Given the description of an element on the screen output the (x, y) to click on. 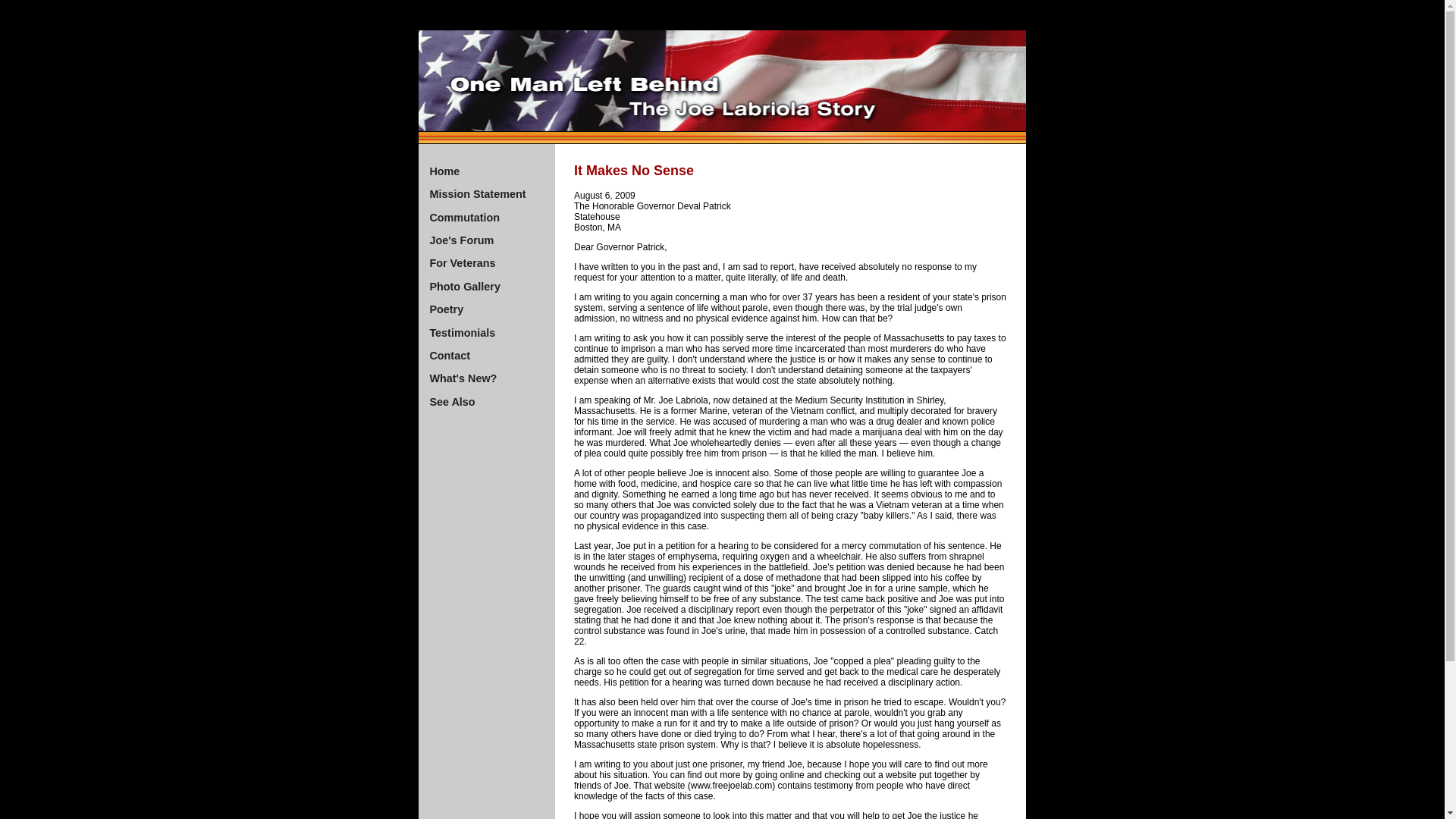
Home (444, 171)
Poetry (446, 309)
Commutation (464, 217)
Testimonials (462, 332)
What's New? (462, 378)
Mission Statement (477, 193)
For Veterans (462, 263)
Contact (449, 355)
Photo Gallery (464, 286)
Joe's Forum (461, 240)
See Also (451, 401)
